Given the description of an element on the screen output the (x, y) to click on. 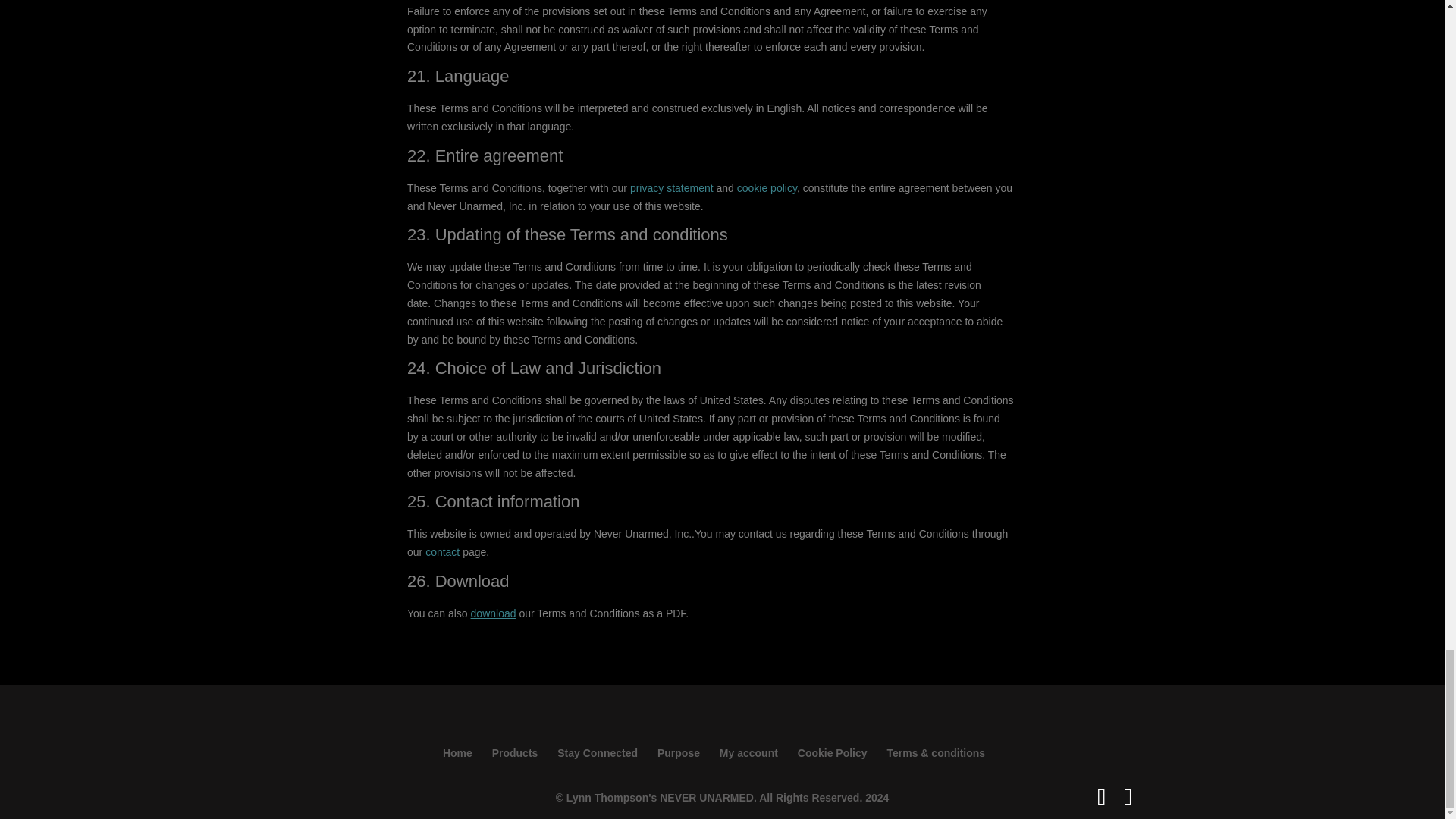
Products (515, 752)
privacy statement (671, 187)
Cookie Policy (832, 752)
contact (442, 551)
Home (456, 752)
Purpose (679, 752)
Stay Connected (597, 752)
My account (748, 752)
download (493, 613)
cookie policy (766, 187)
